Given the description of an element on the screen output the (x, y) to click on. 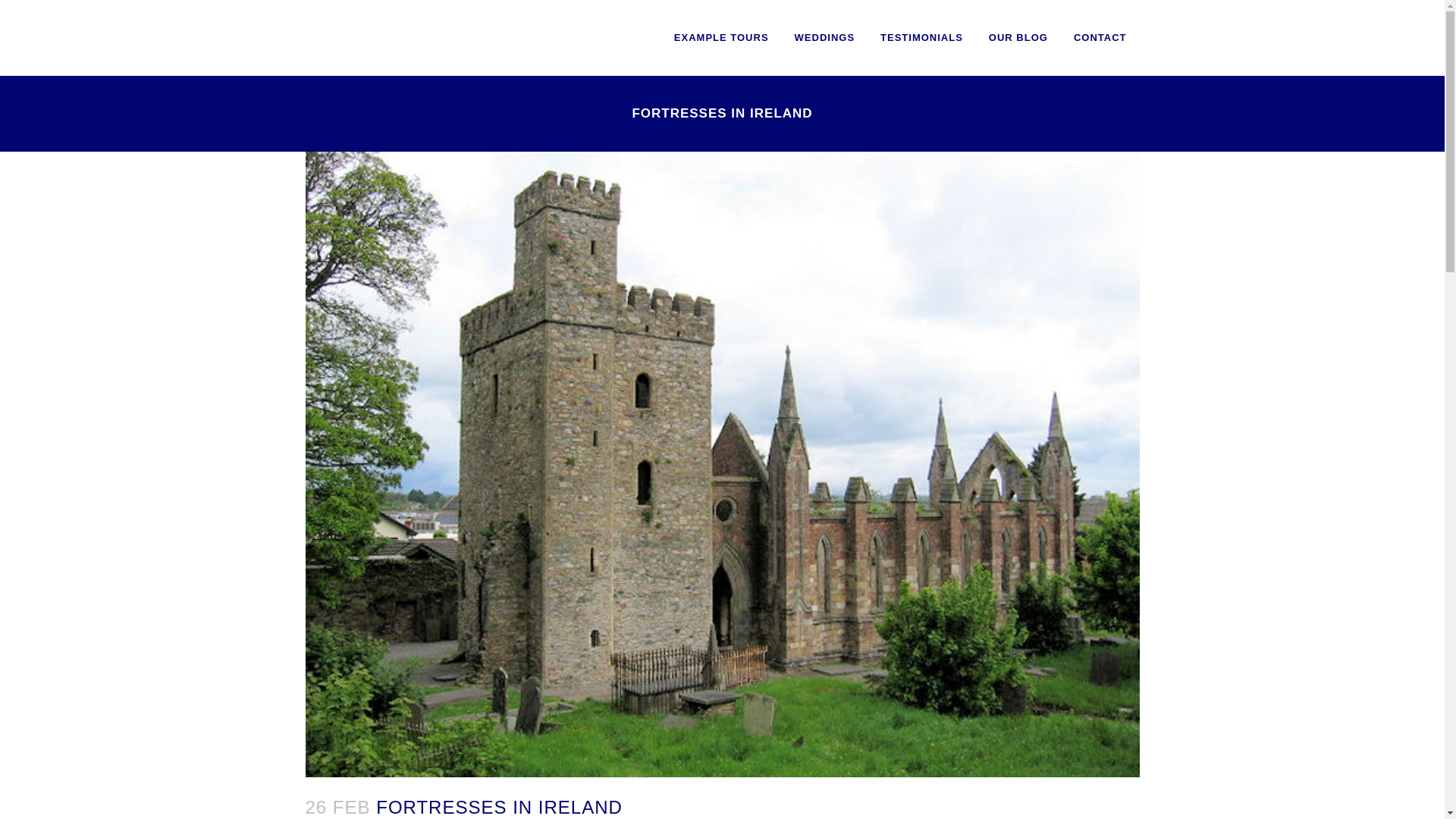
TESTIMONIALS (921, 38)
OUR BLOG (1018, 38)
EXAMPLE TOURS (721, 38)
CONTACT (1100, 38)
WEDDINGS (824, 38)
